Given the description of an element on the screen output the (x, y) to click on. 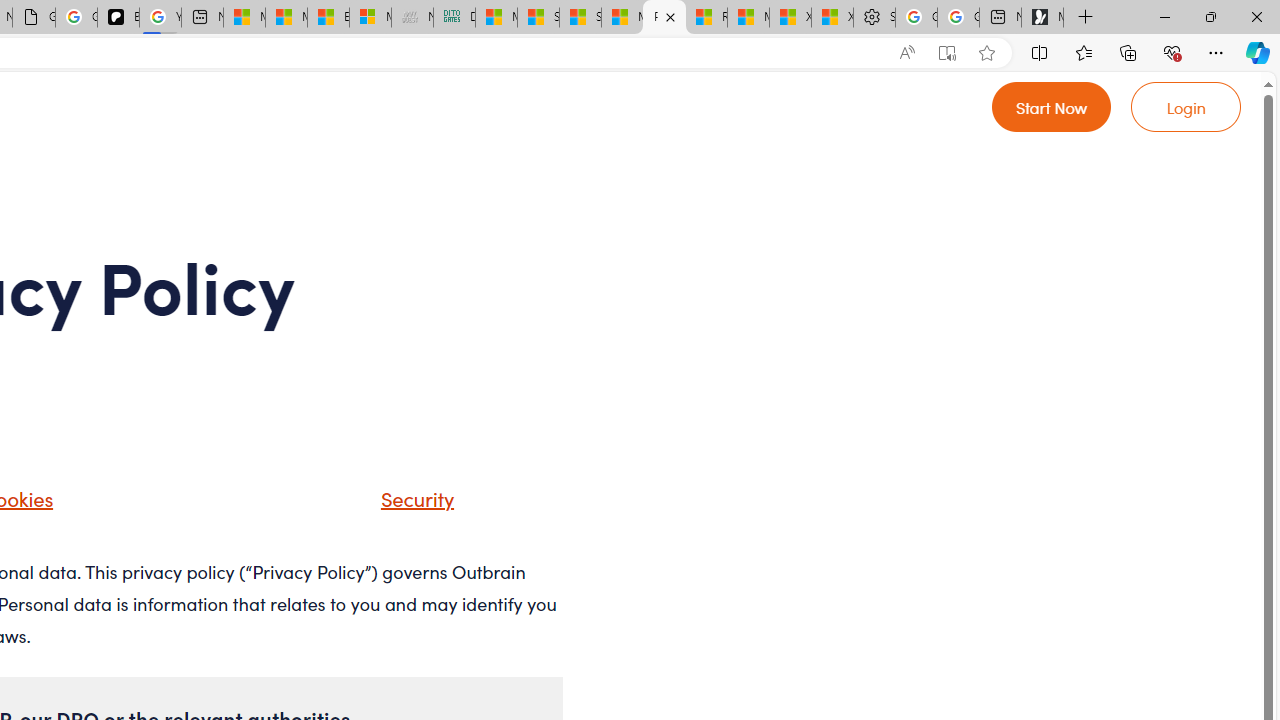
Microsoft Start Gaming (1042, 17)
Entertainment - MSN (328, 17)
Stocks - MSN (580, 17)
Be Smart | creating Science videos | Patreon (118, 17)
MSN (621, 17)
DITOGAMES AG Imprint (453, 17)
